Given the description of an element on the screen output the (x, y) to click on. 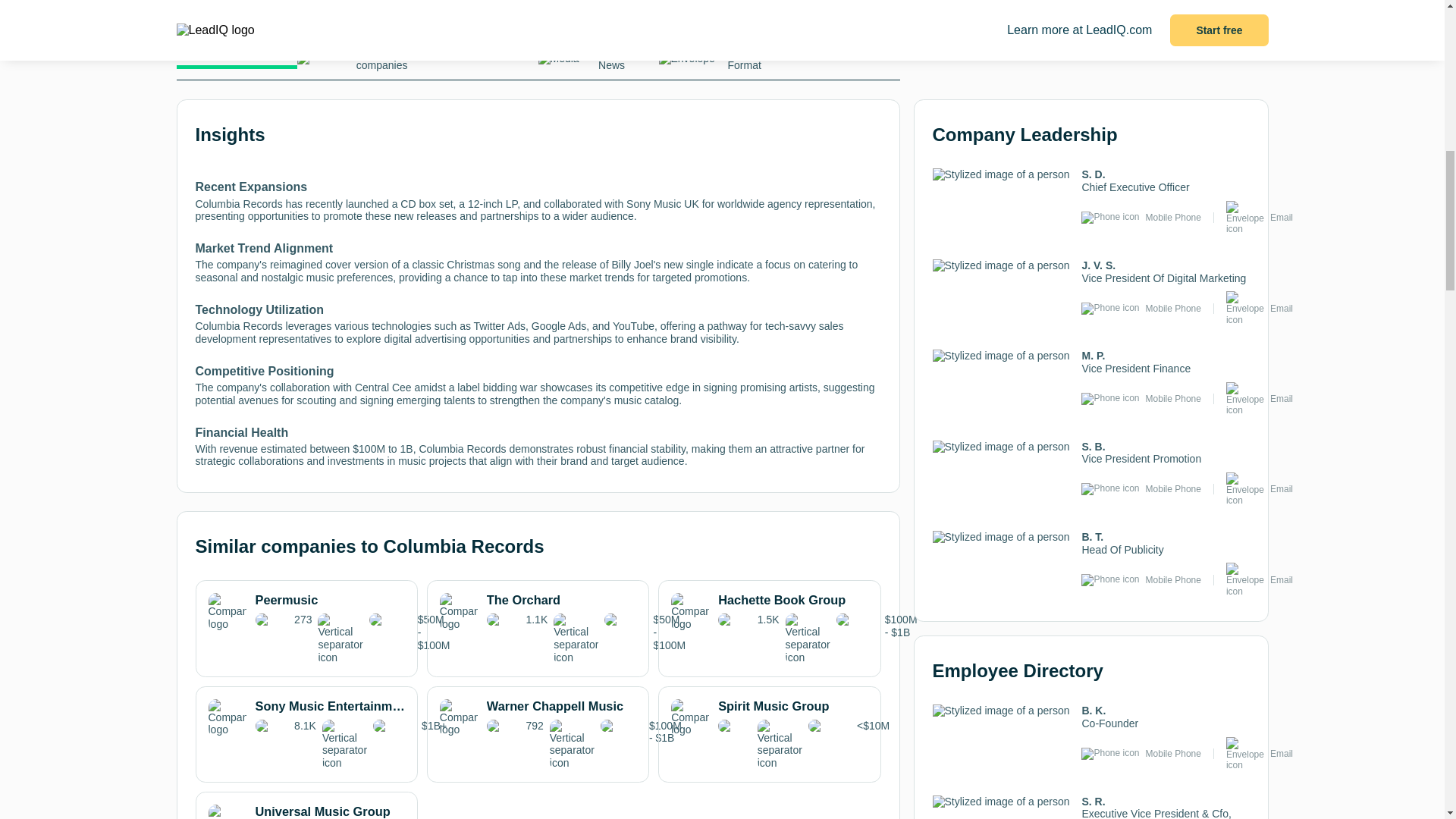
Insights (236, 57)
FAQ (838, 56)
Tech Stack (476, 56)
Email Format (718, 62)
Similar companies (357, 62)
